Given the description of an element on the screen output the (x, y) to click on. 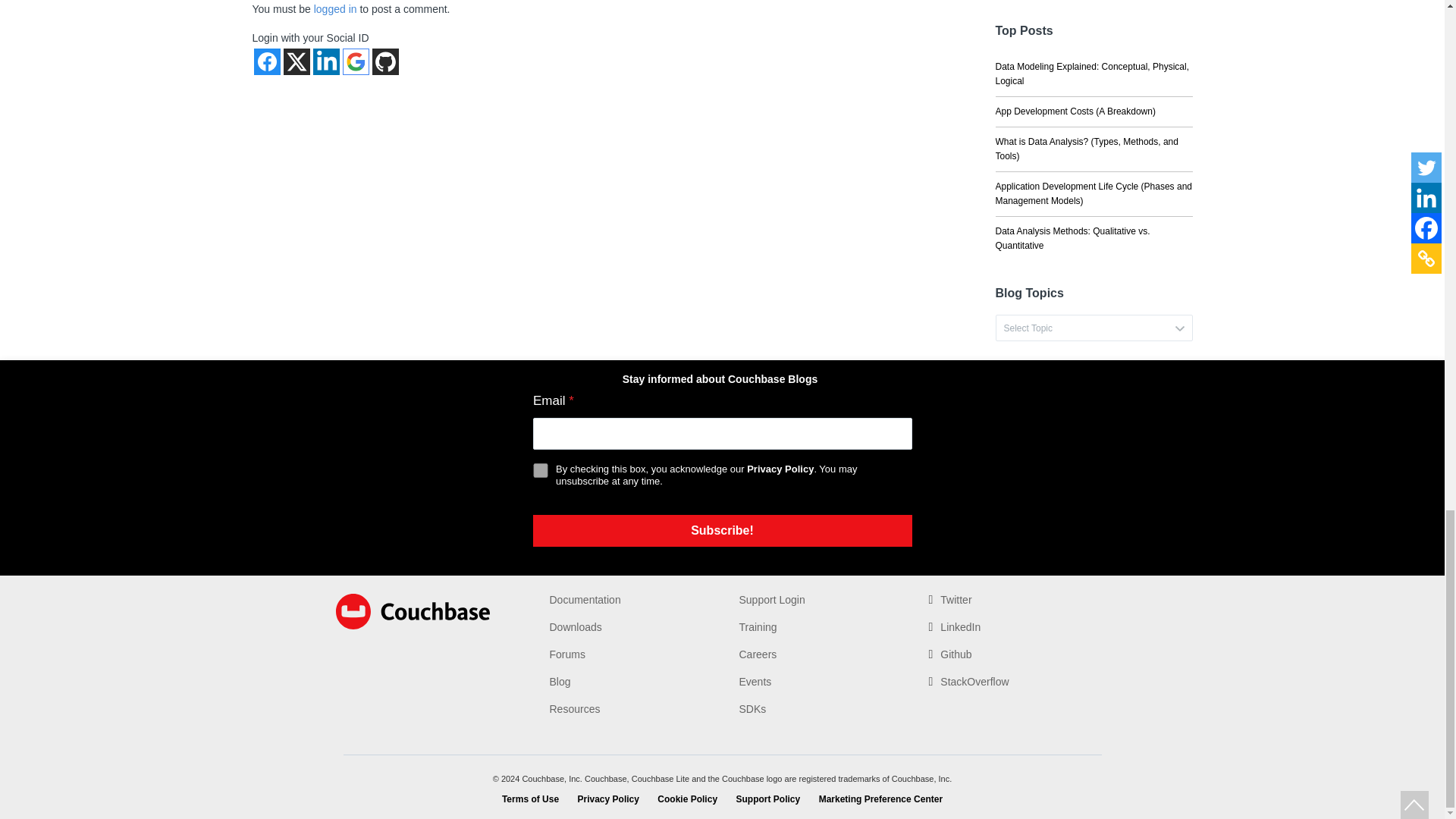
Subscribe! (721, 531)
Login with Facebook (266, 61)
Login with Github (384, 61)
Login with Linkedin (326, 61)
1 (539, 470)
Login with X (296, 61)
Email (721, 433)
Login with Google (355, 61)
